Given the description of an element on the screen output the (x, y) to click on. 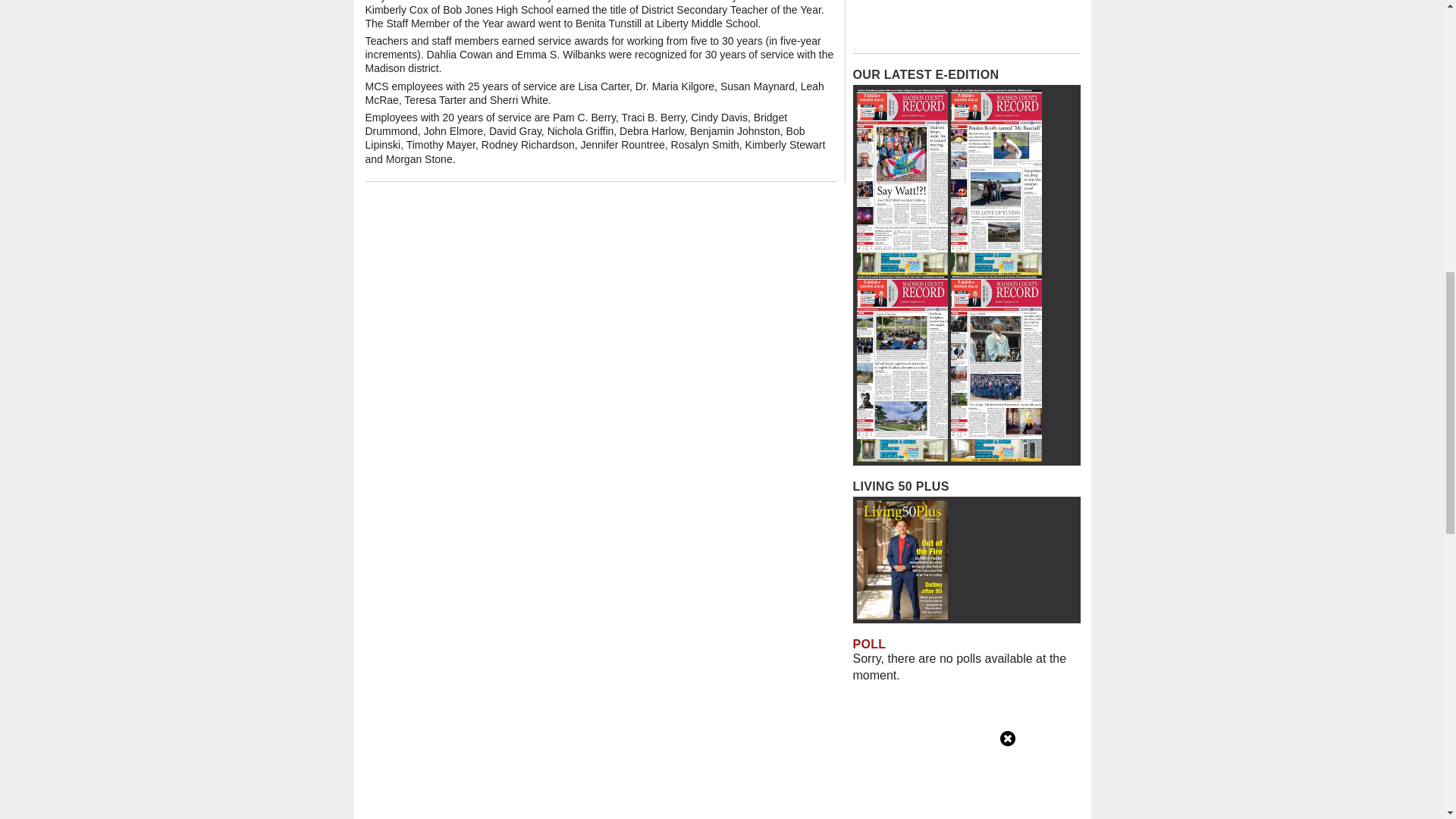
3rd party ad content (965, 22)
OUR LATEST E-EDITION (924, 74)
